Given the description of an element on the screen output the (x, y) to click on. 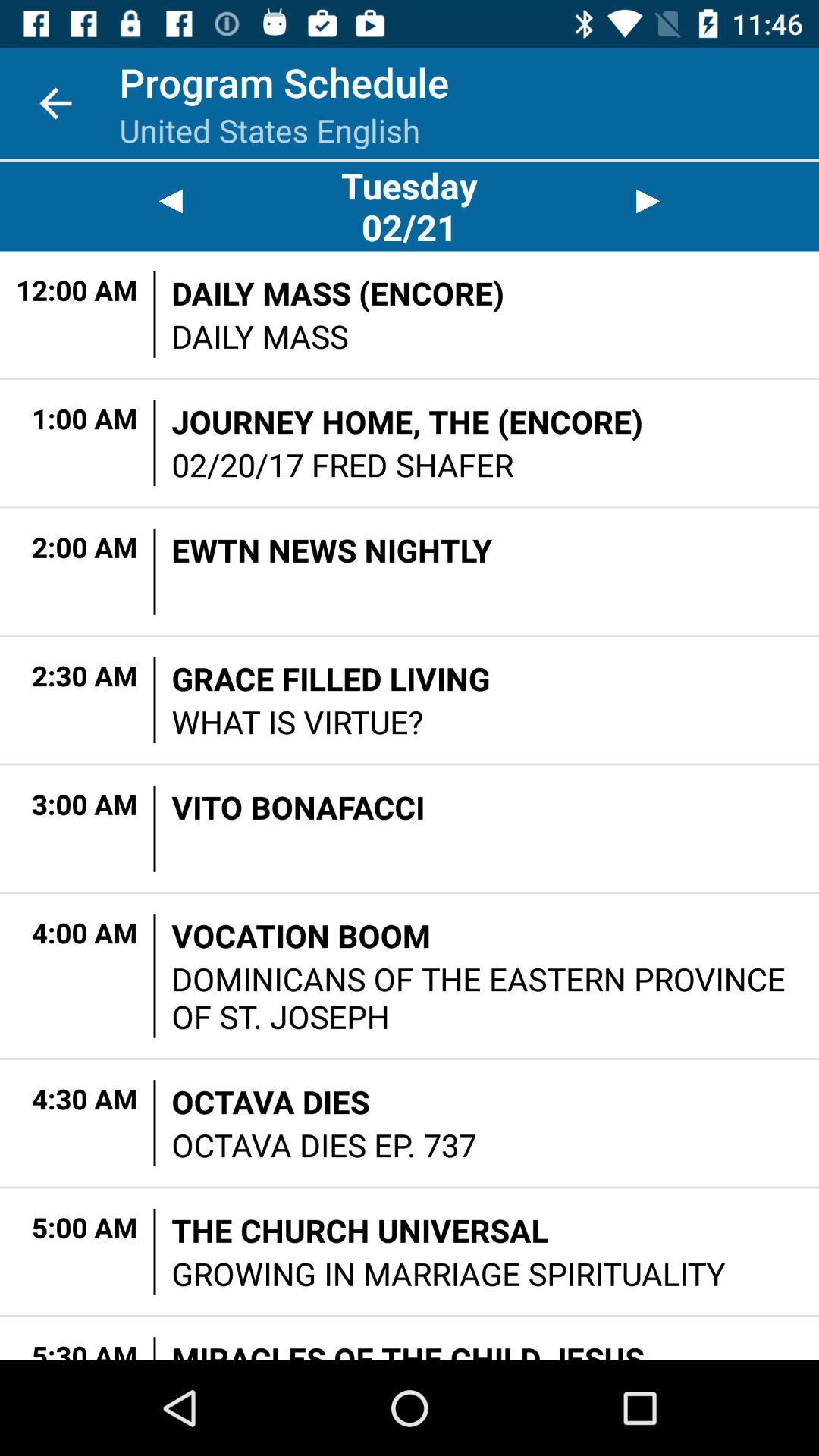
swipe until the ewtn news nightly (331, 549)
